Given the description of an element on the screen output the (x, y) to click on. 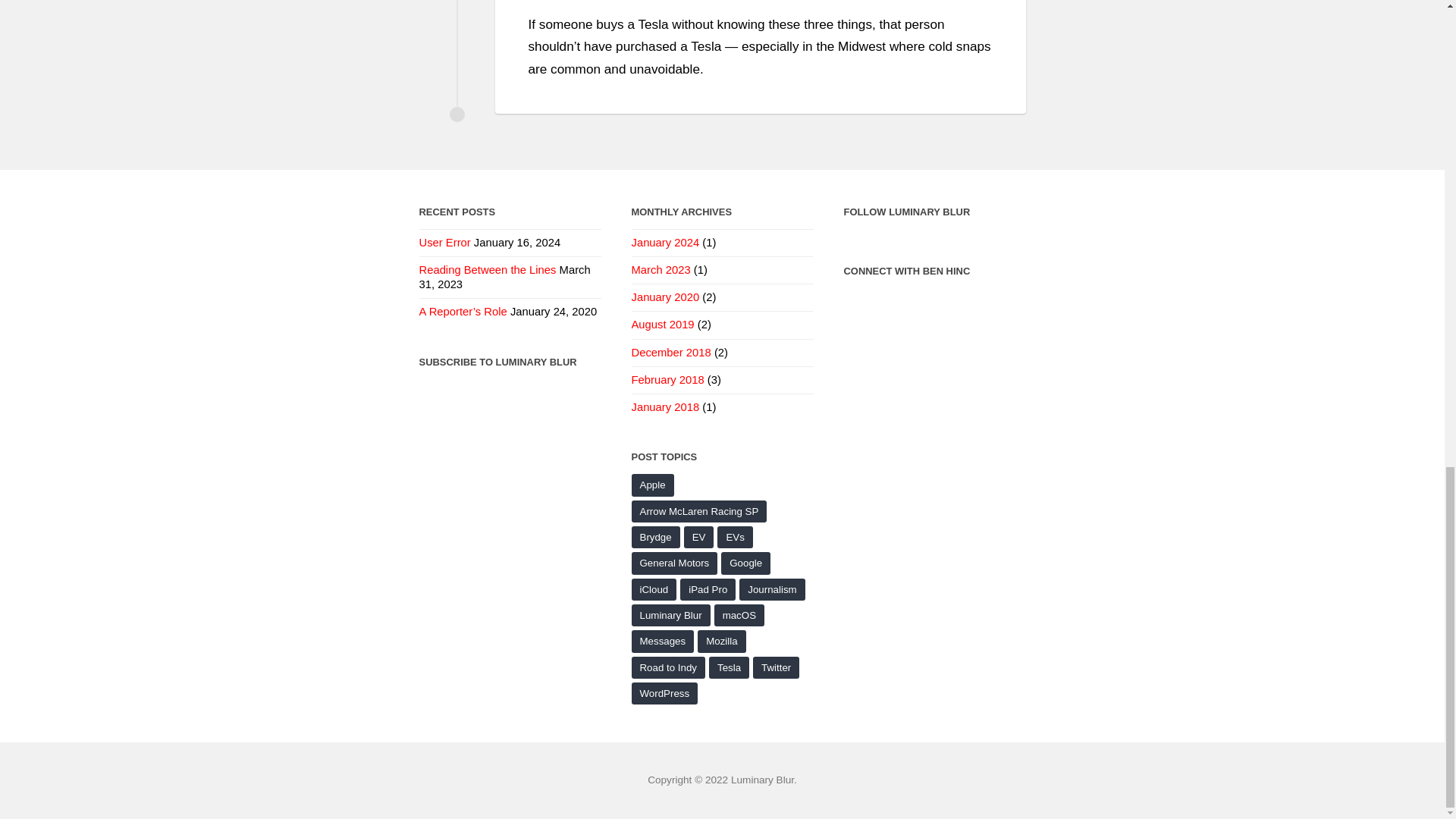
March 2023 (660, 269)
Brydge (654, 536)
Apple (651, 485)
Arrow McLaren Racing SP (698, 511)
General Motors (673, 563)
EVs (734, 536)
Journalism (772, 589)
EV (699, 536)
February 2018 (666, 379)
Google (745, 563)
